Given the description of an element on the screen output the (x, y) to click on. 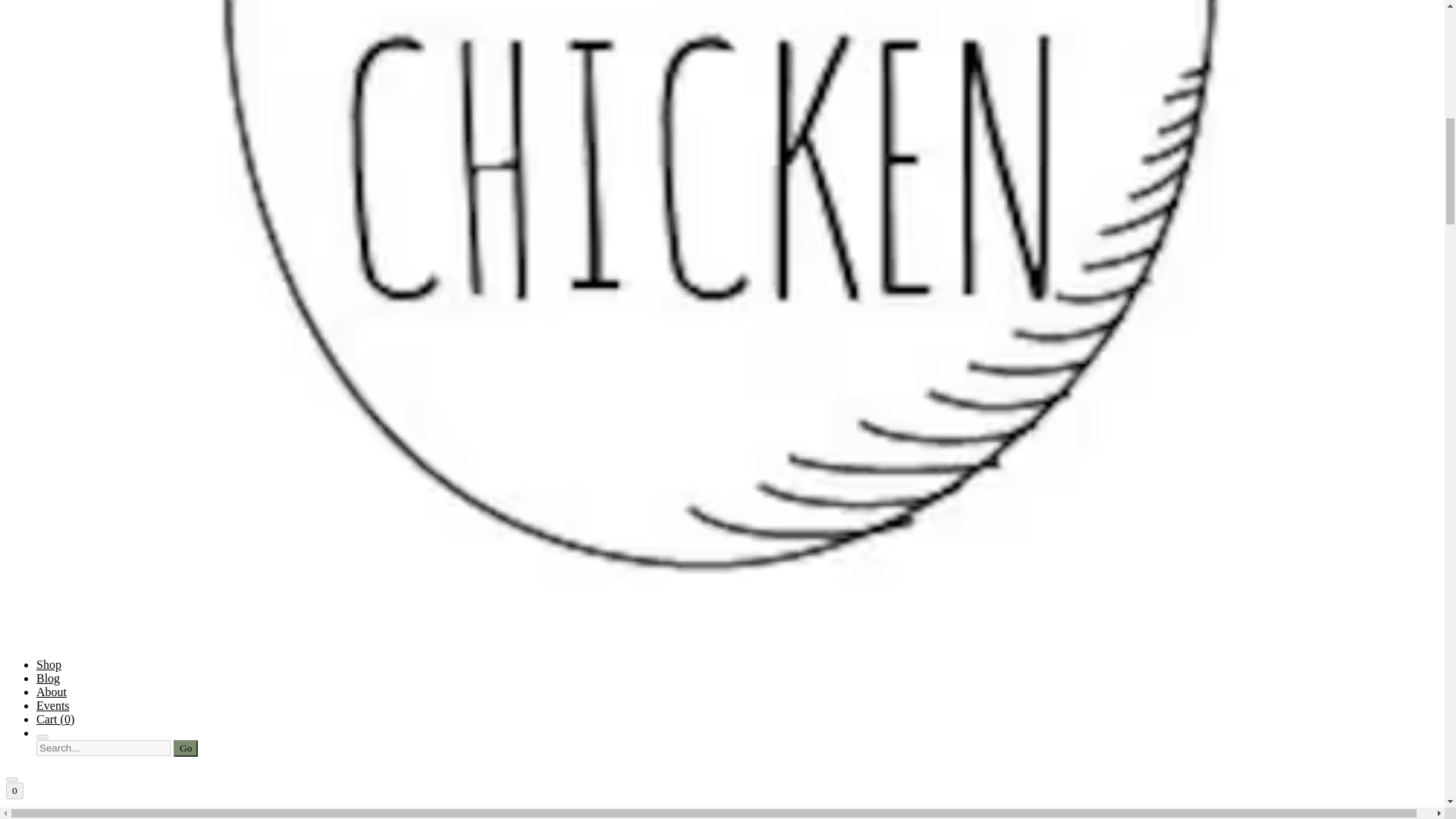
Events (52, 705)
Blog (47, 677)
Go (185, 748)
0 (14, 790)
Shop (48, 664)
Go (185, 748)
About (51, 691)
